Given the description of an element on the screen output the (x, y) to click on. 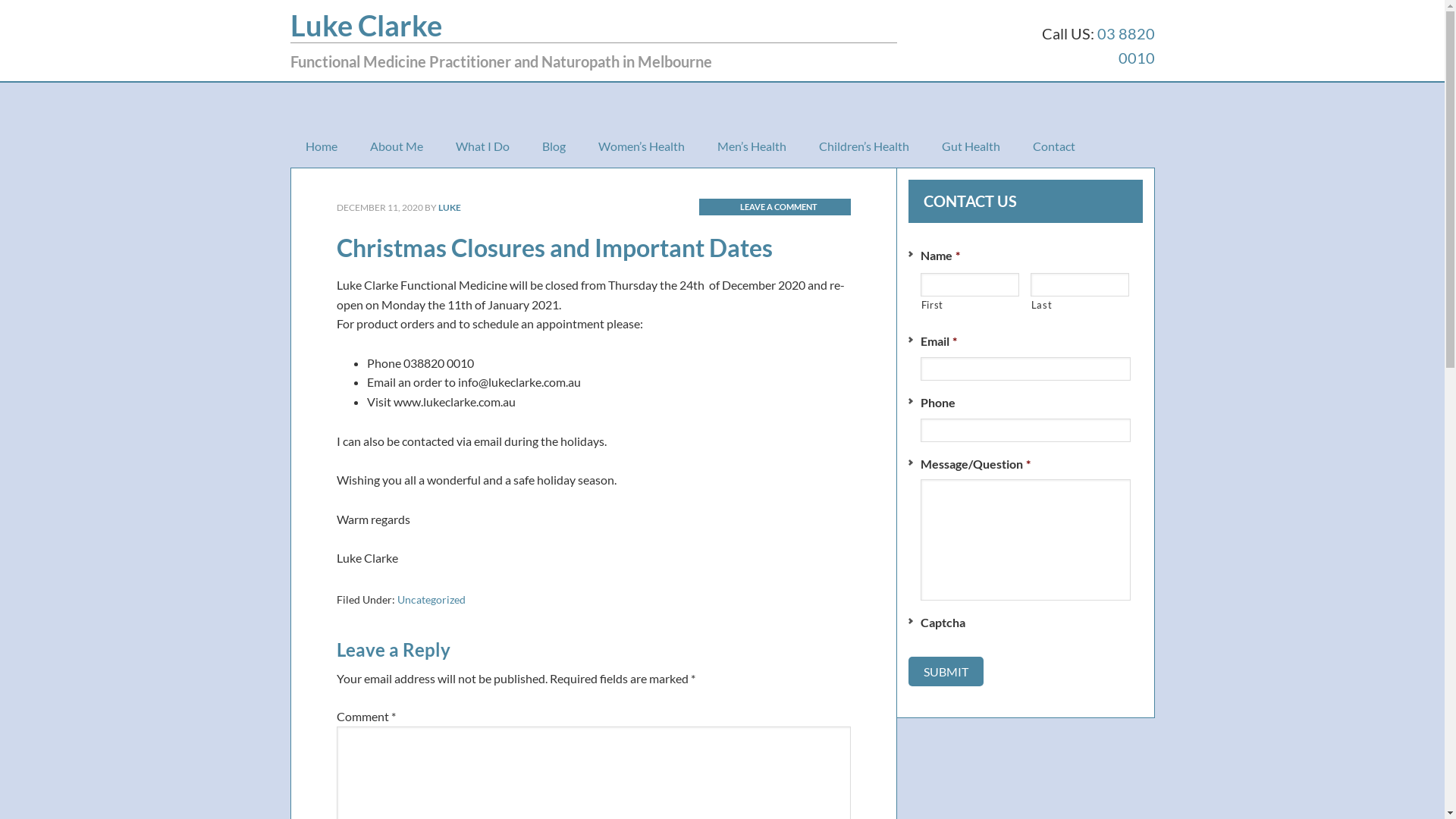
Submit Element type: text (945, 671)
Home Element type: text (320, 146)
03 8820 0010 Element type: text (1125, 45)
Blog Element type: text (553, 146)
What I Do Element type: text (481, 146)
Contact Element type: text (1053, 146)
Gut Health Element type: text (970, 146)
Luke Clarke Element type: text (365, 24)
LEAVE A COMMENT Element type: text (774, 206)
Uncategorized Element type: text (431, 599)
LUKE Element type: text (449, 207)
About Me Element type: text (396, 146)
